Given the description of an element on the screen output the (x, y) to click on. 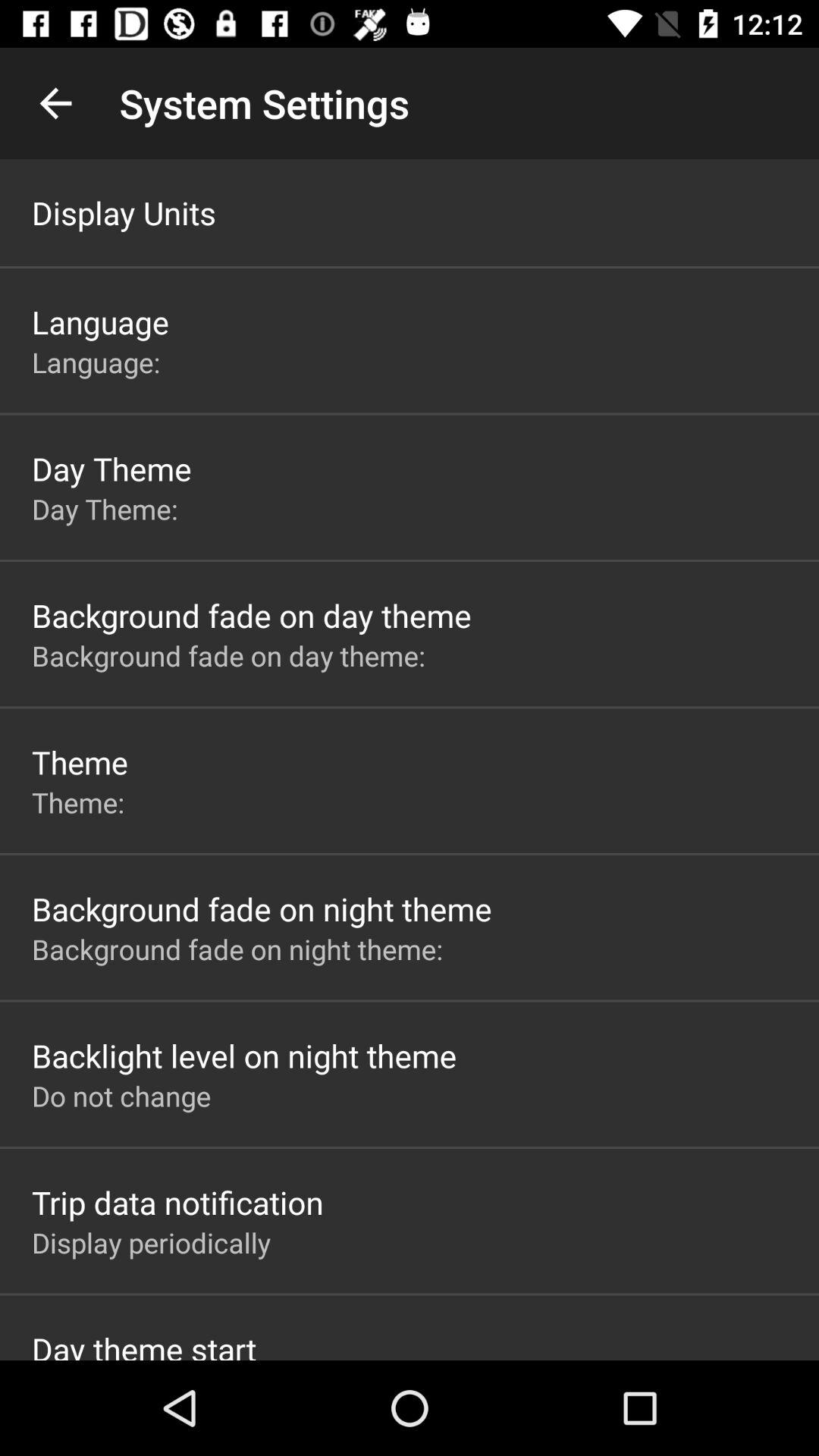
jump to display units (123, 212)
